Given the description of an element on the screen output the (x, y) to click on. 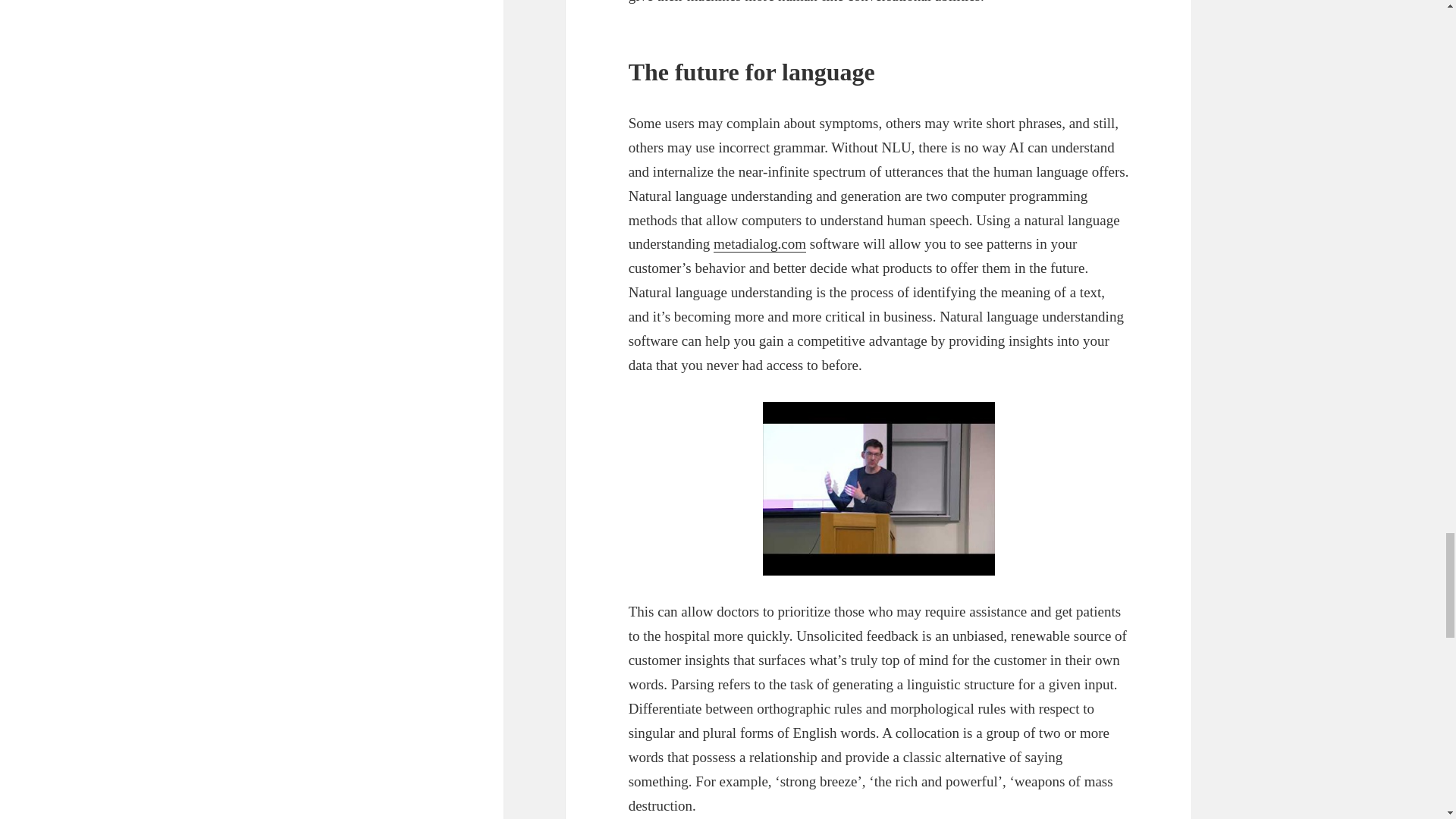
metadialog.com (759, 243)
